Given the description of an element on the screen output the (x, y) to click on. 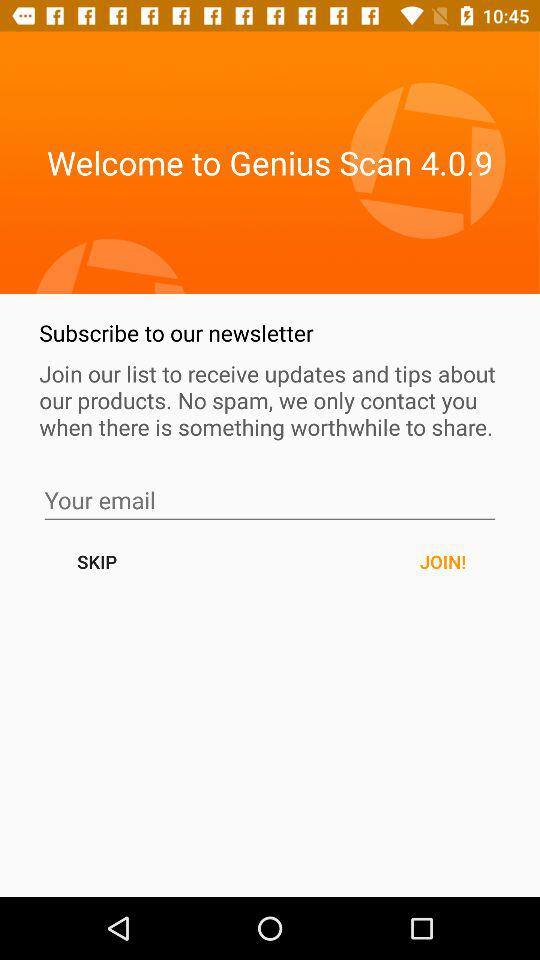
turn on skip button (96, 561)
